Given the description of an element on the screen output the (x, y) to click on. 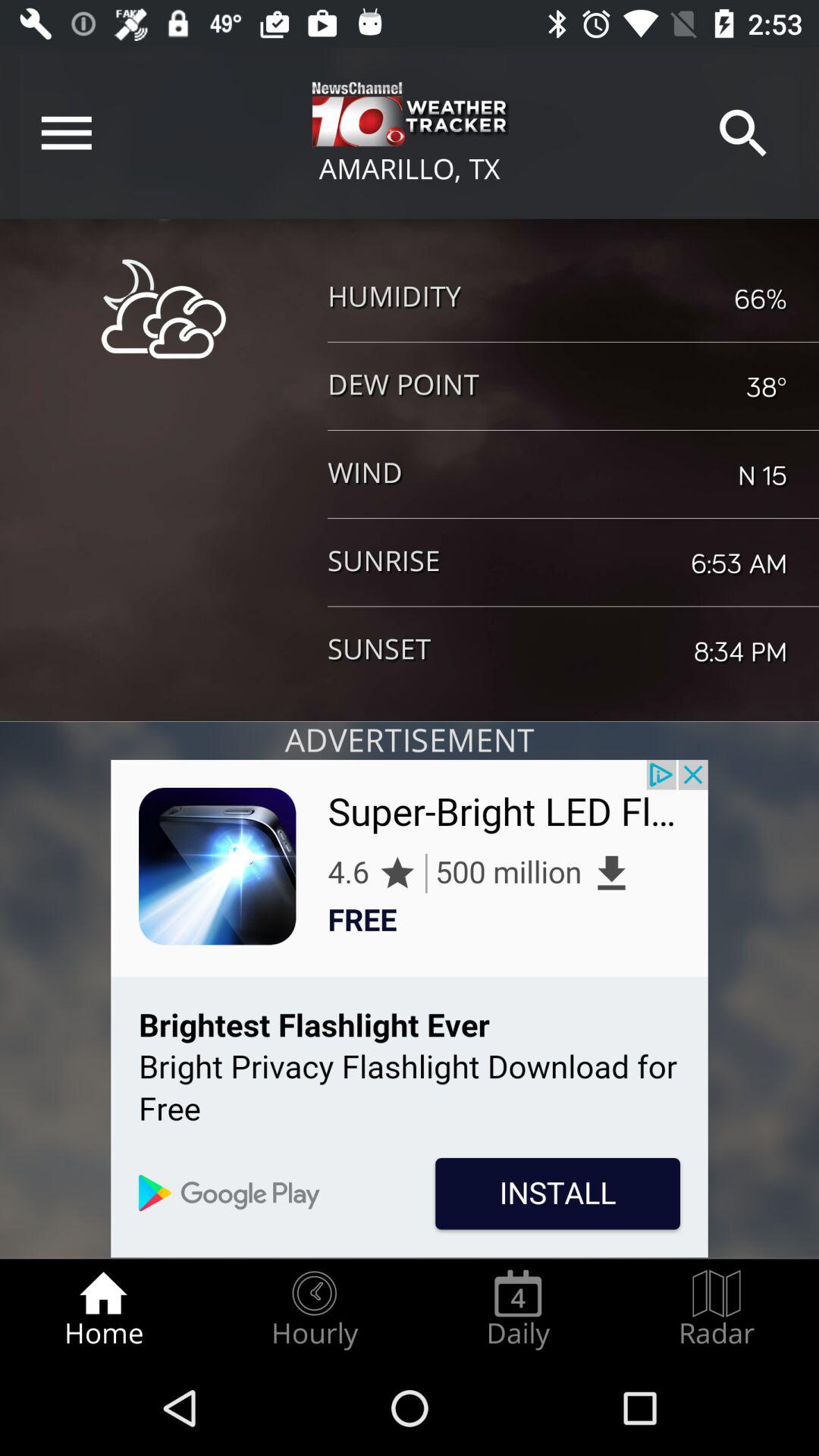
click the item to the right of daily item (716, 1309)
